Given the description of an element on the screen output the (x, y) to click on. 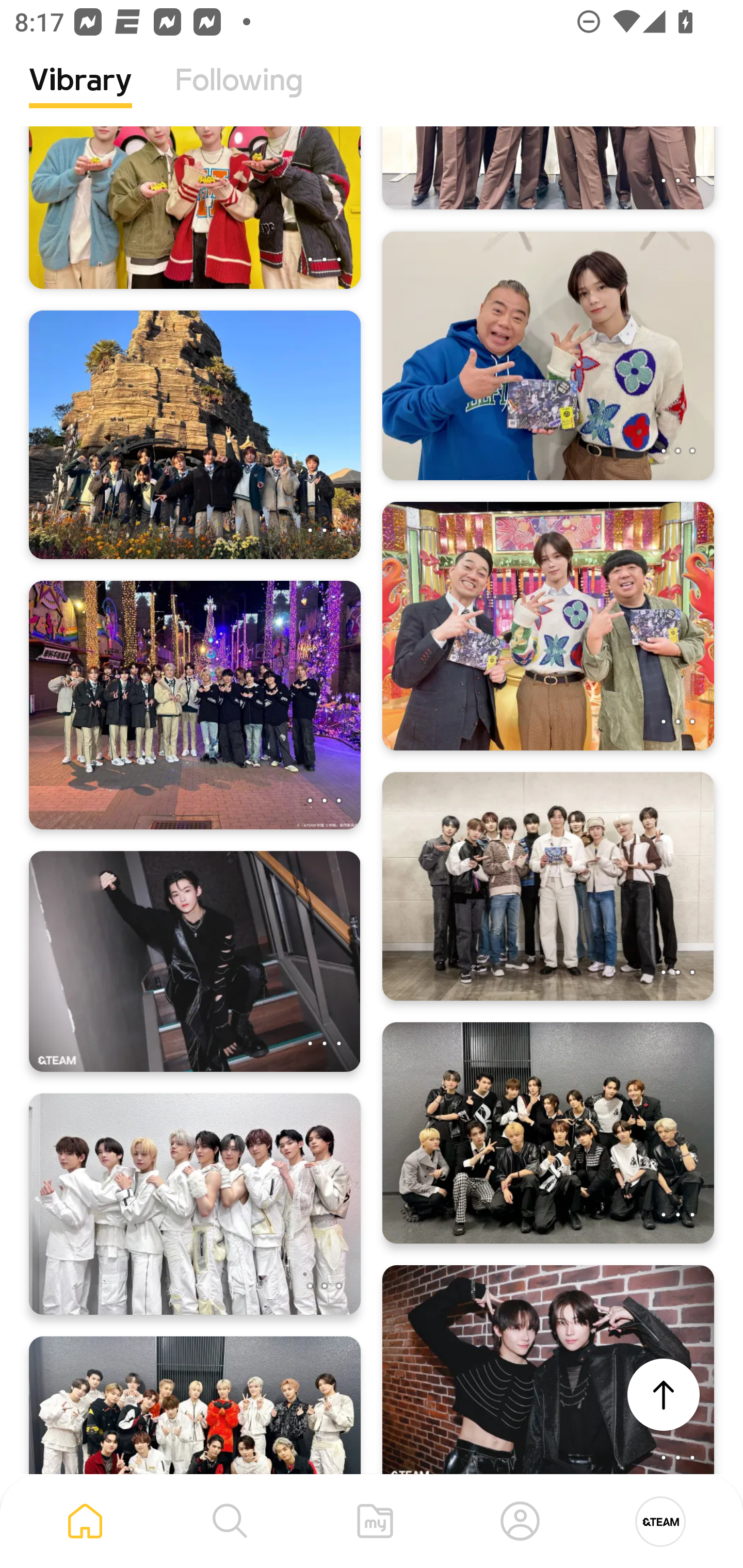
Vibrary (80, 95)
Following (239, 95)
